Given the description of an element on the screen output the (x, y) to click on. 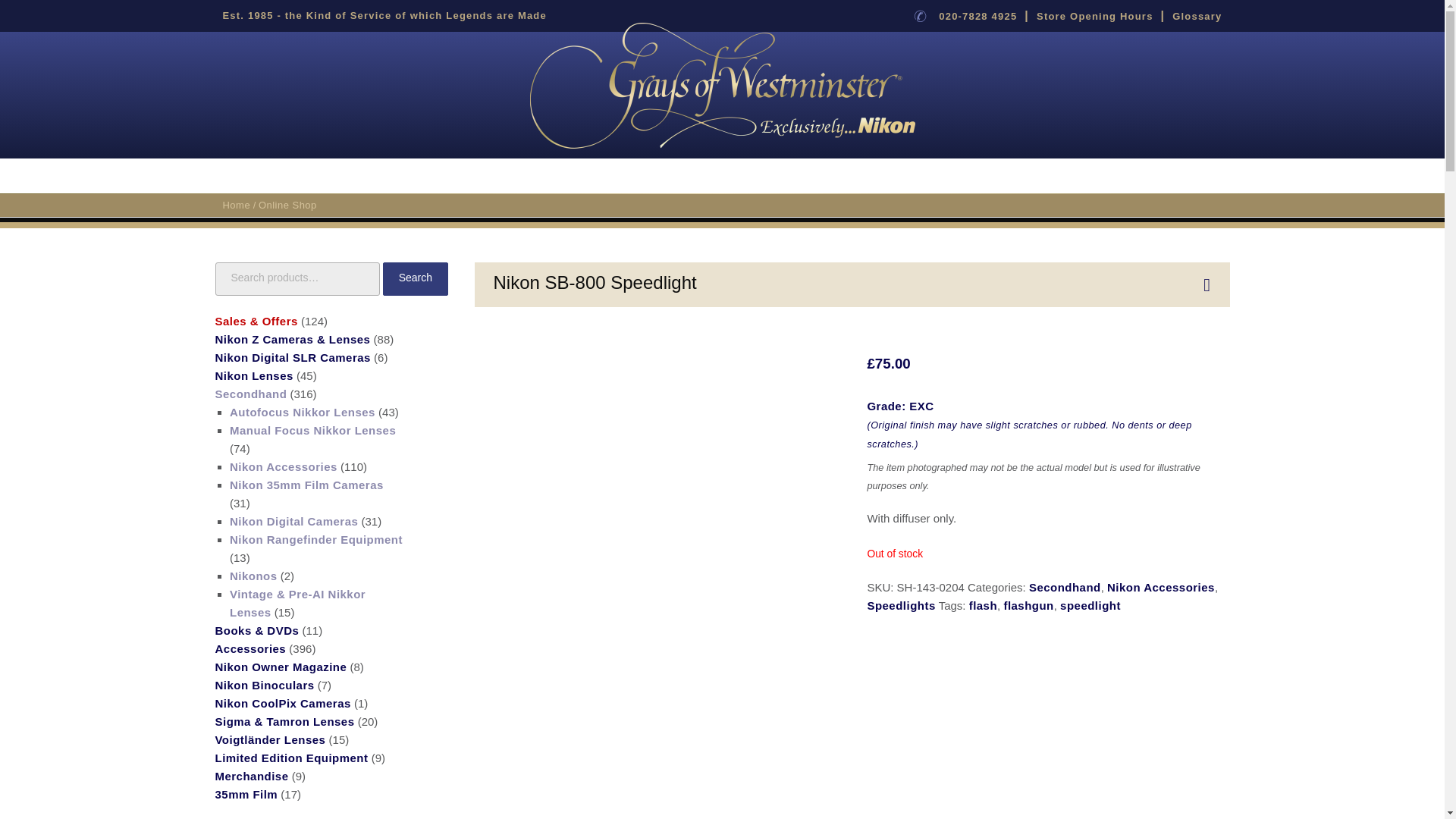
020-7828 4925 (977, 16)
View Second-hand Grading Description (1028, 424)
Glossary (1196, 16)
Store Opening Hours (1094, 16)
